Given the description of an element on the screen output the (x, y) to click on. 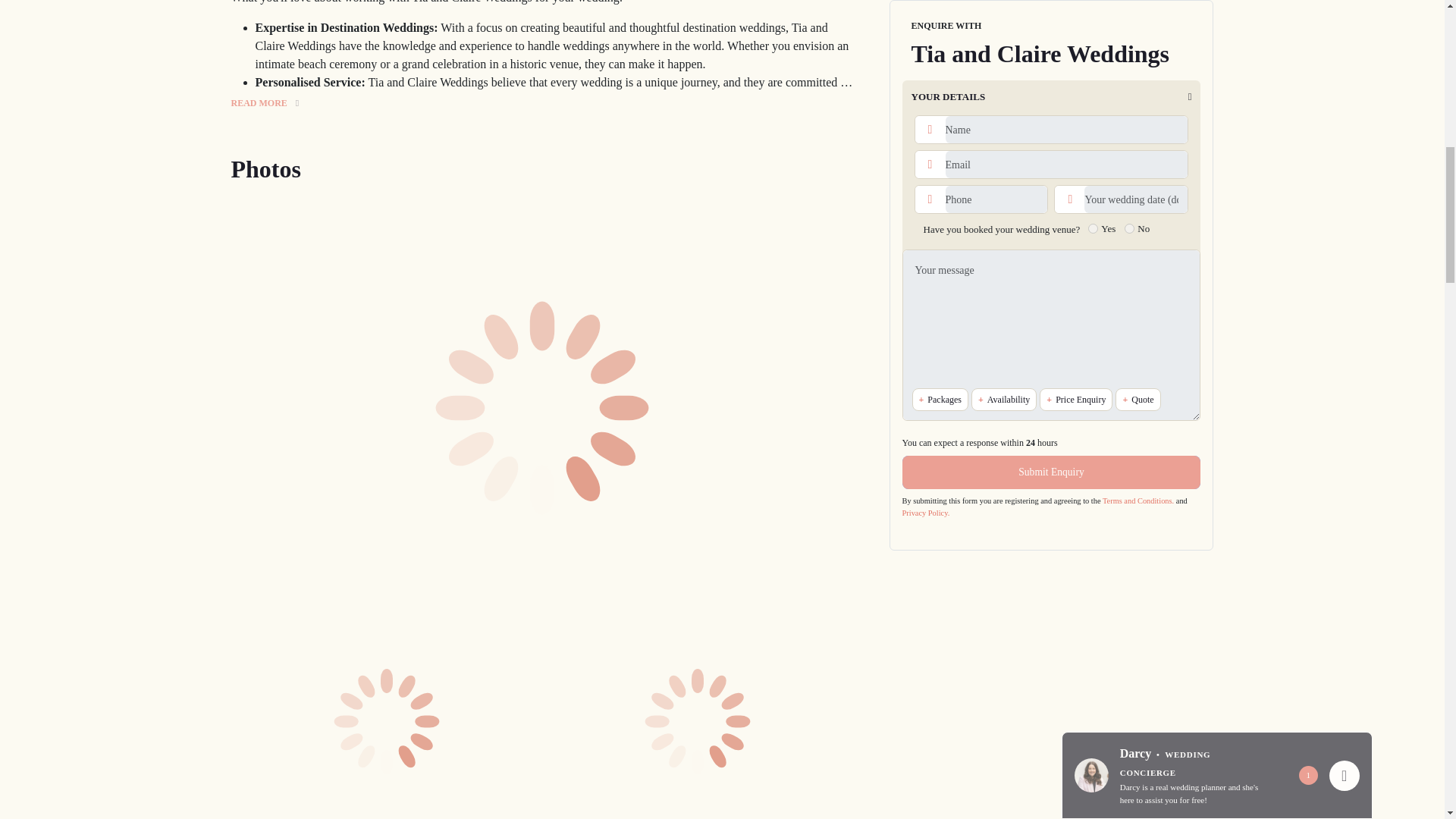
Tia and Claire Weddings SupplierProfileLive Wedding Planners (386, 719)
No (1129, 9)
Tia and Claire Weddings SupplierProfileLive Wedding Planners (697, 719)
Yes (1092, 9)
READ MORE (264, 102)
